Given the description of an element on the screen output the (x, y) to click on. 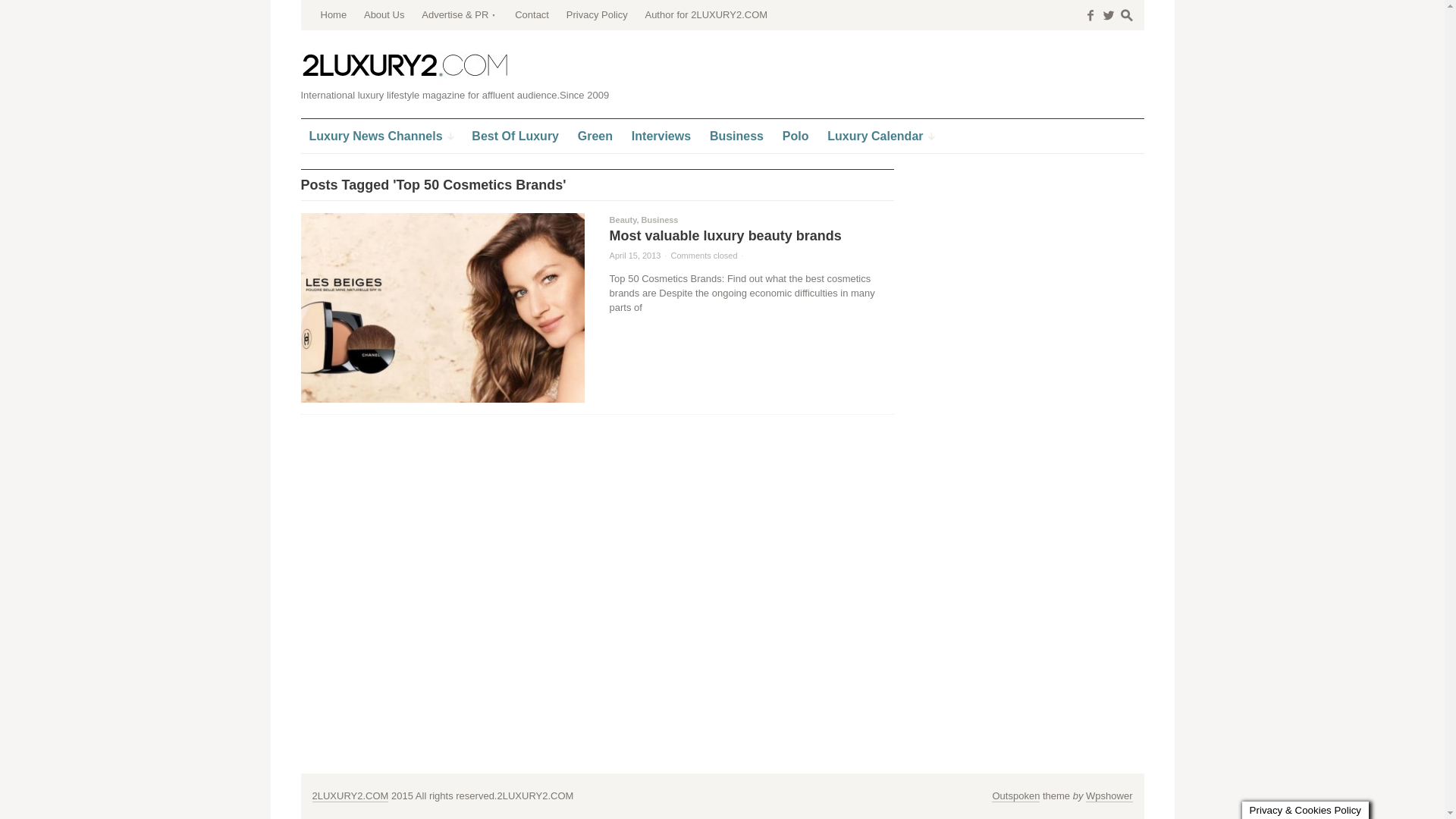
Luxury Calendar Element type: text (880, 136)
Interviews Element type: text (661, 136)
Outspoken Element type: text (1015, 796)
Business Element type: text (659, 219)
Business Element type: text (736, 136)
Green Element type: text (595, 136)
Contact Element type: text (531, 15)
Polo Element type: text (795, 136)
Home Element type: text (333, 15)
Skip to content Element type: text (337, 4)
2LUXURY2.COM Element type: hover (405, 65)
Advertise & PR Element type: text (459, 15)
Most valuable luxury beauty brands Element type: hover (442, 307)
About Us Element type: text (384, 15)
Best Of Luxury Element type: text (515, 136)
Luxury News Channels Element type: text (380, 136)
Most valuable luxury beauty brands Element type: text (725, 235)
Author for 2LUXURY2.COM Element type: text (705, 15)
2LUXURY2.COM Element type: text (350, 796)
w Element type: text (1108, 15)
April 15, 2013 Element type: text (635, 255)
Beauty Element type: text (623, 219)
Privacy Policy Element type: text (596, 15)
2LUXURY2.COM Element type: hover (405, 65)
f Element type: text (1090, 15)
Wpshower Element type: text (1108, 796)
